Given the description of an element on the screen output the (x, y) to click on. 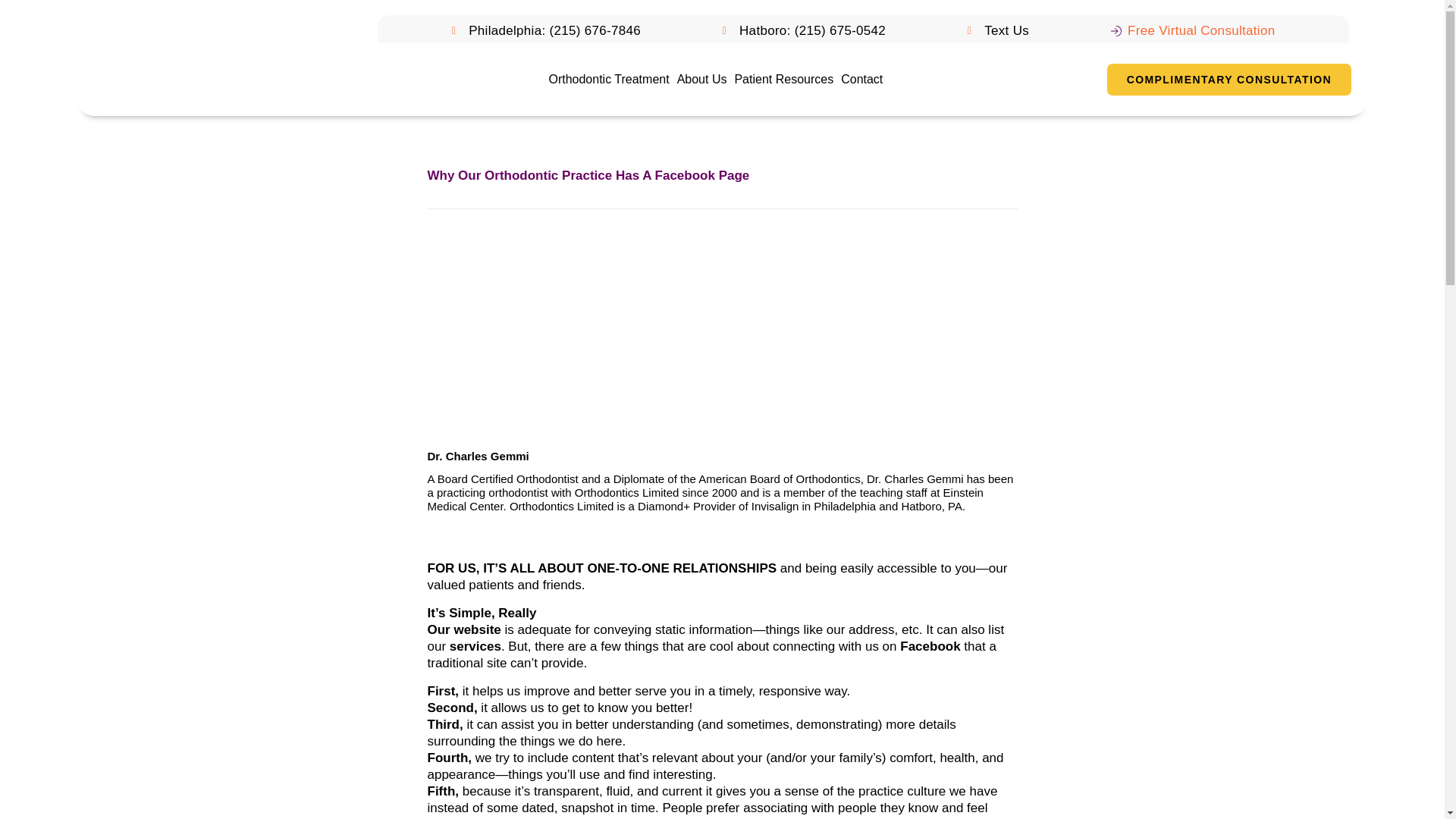
About Us (701, 79)
Contact (861, 79)
Patient Resources (783, 79)
Text Us (998, 30)
Free Virtual Consultation (1192, 30)
Orthodontic Treatment (608, 79)
